Given the description of an element on the screen output the (x, y) to click on. 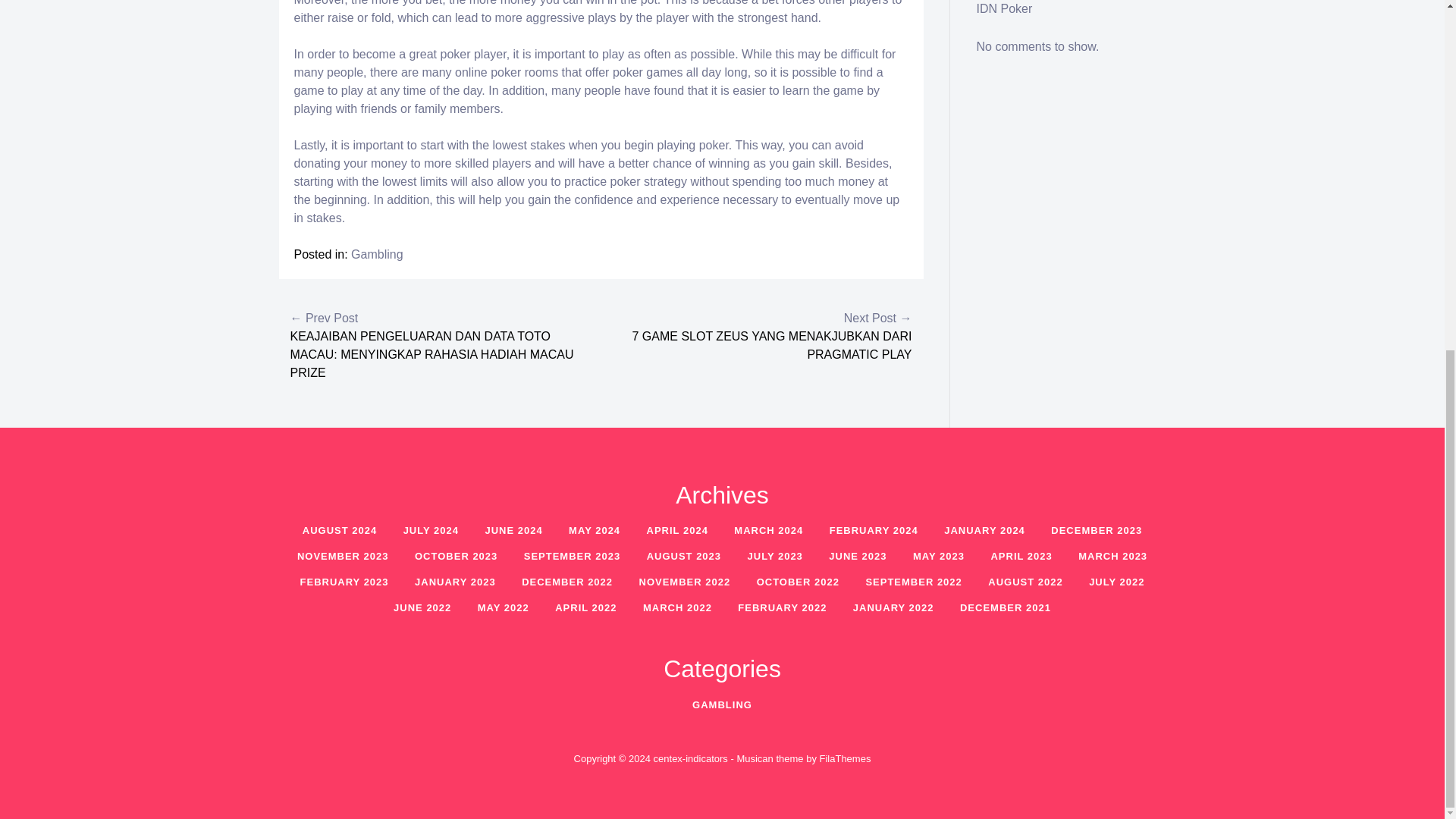
JUNE 2023 (857, 555)
Gambling (376, 254)
OCTOBER 2023 (455, 555)
JANUARY 2023 (454, 582)
IDN Poker (1004, 8)
AUGUST 2023 (683, 555)
FEBRUARY 2024 (874, 530)
SEPTEMBER 2023 (571, 555)
MAY 2024 (594, 530)
MARCH 2023 (1112, 555)
AUGUST 2024 (339, 530)
MARCH 2024 (767, 530)
APRIL 2024 (676, 530)
DECEMBER 2023 (1096, 530)
JUNE 2024 (513, 530)
